Given the description of an element on the screen output the (x, y) to click on. 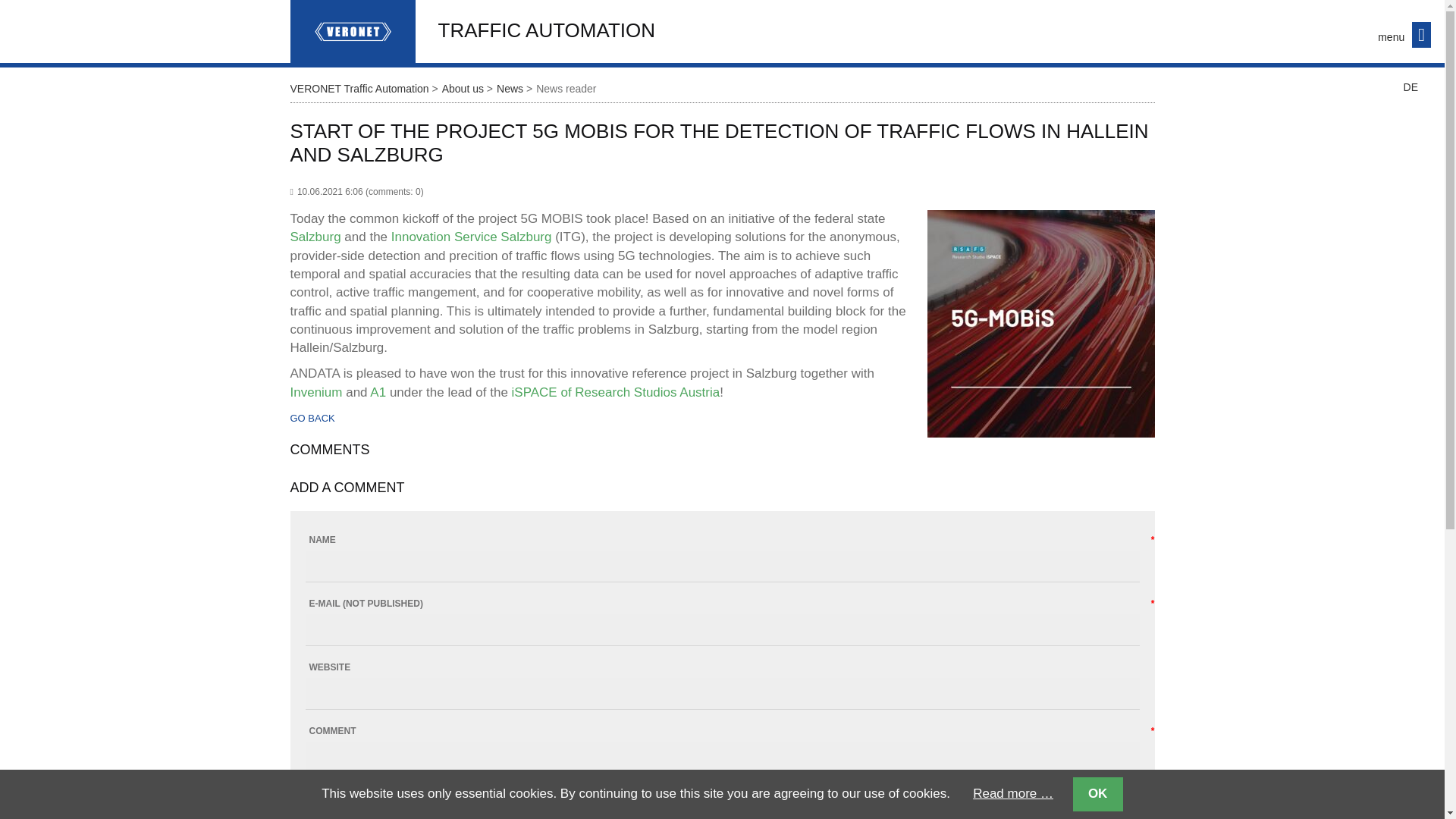
News (515, 88)
About us (469, 88)
VERONET Traffic Automation (365, 88)
GO BACK (311, 418)
About us (469, 88)
Salzburg (314, 237)
Go back (311, 418)
Invenium (315, 391)
News (515, 88)
A1 (377, 391)
